Given the description of an element on the screen output the (x, y) to click on. 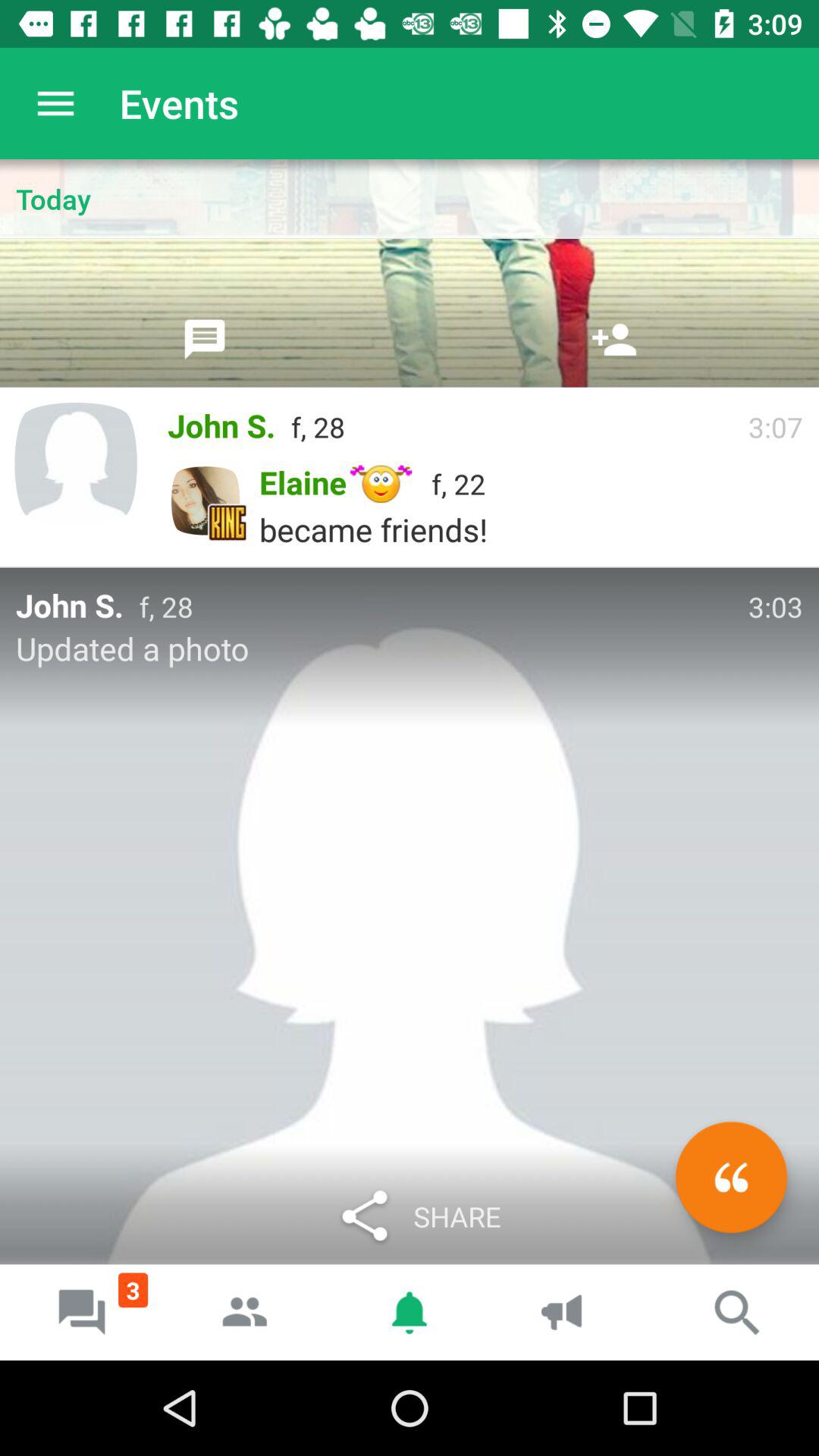
turn off icon below the today (614, 339)
